Given the description of an element on the screen output the (x, y) to click on. 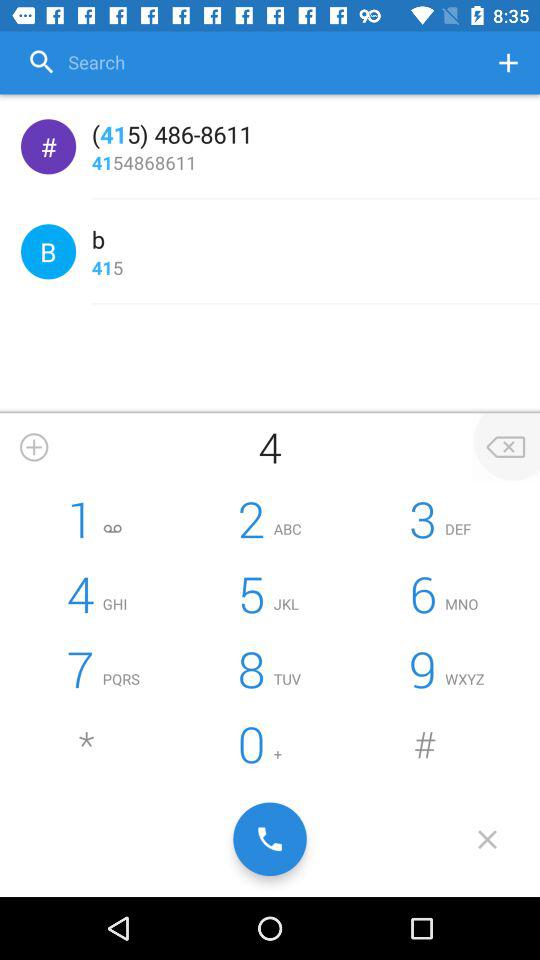
add to contacts (508, 62)
